Given the description of an element on the screen output the (x, y) to click on. 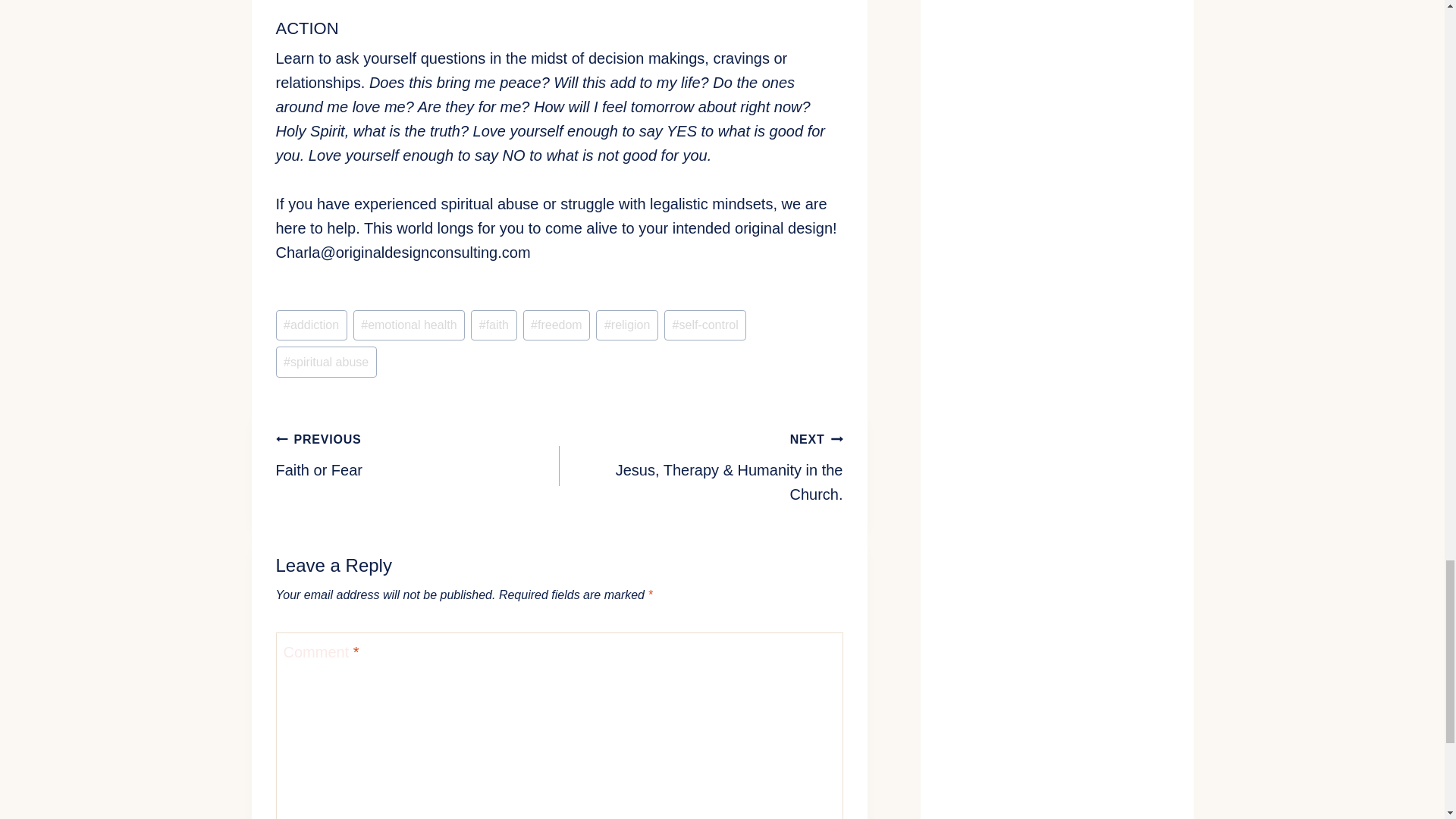
self-control (704, 325)
freedom (417, 453)
religion (556, 325)
faith (626, 325)
spiritual abuse (493, 325)
emotional health (326, 361)
addiction (409, 325)
